Given the description of an element on the screen output the (x, y) to click on. 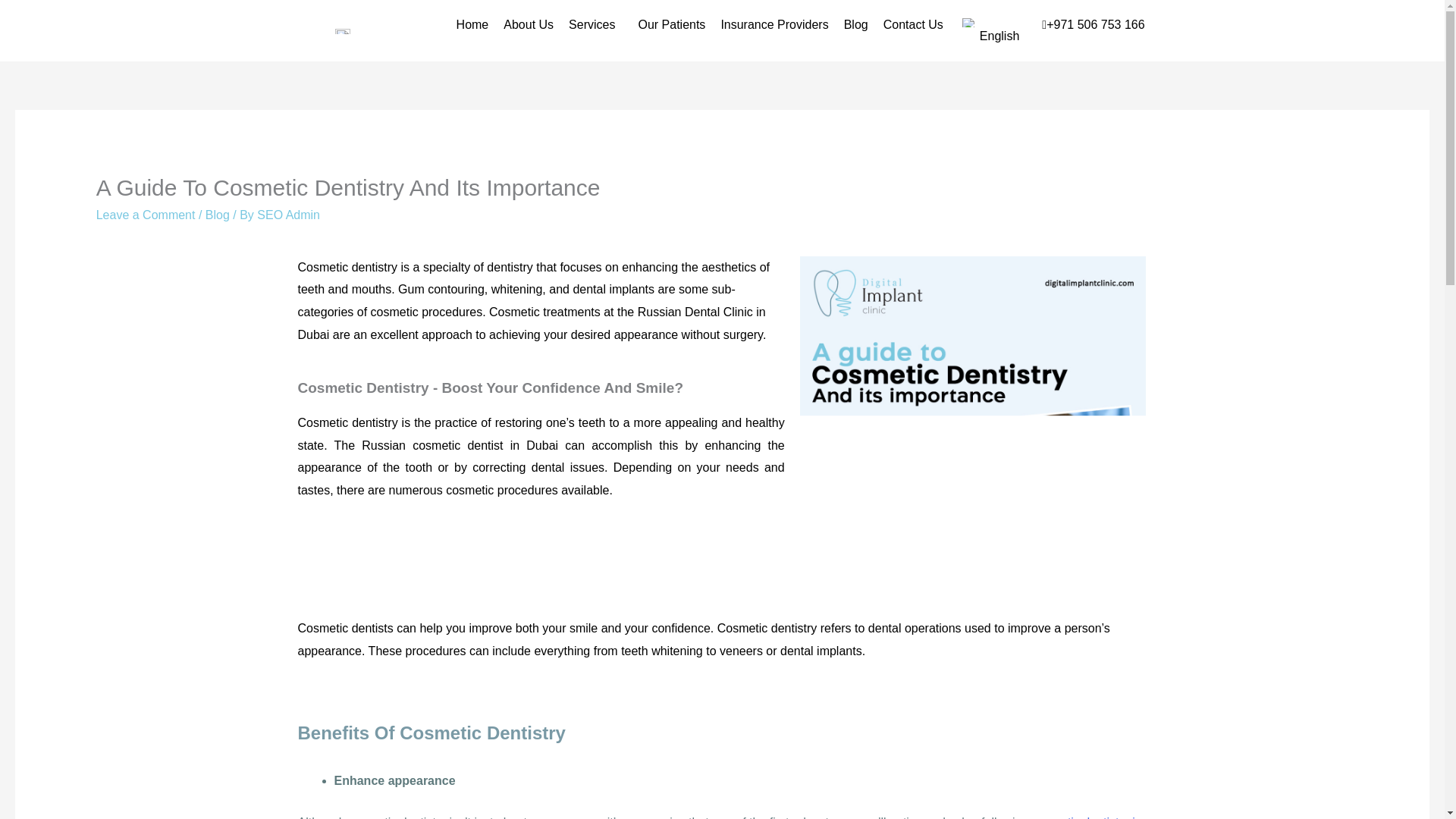
English (968, 22)
Services (595, 24)
About Us (528, 24)
View all posts by SEO Admin (288, 214)
Home (472, 24)
